Given the description of an element on the screen output the (x, y) to click on. 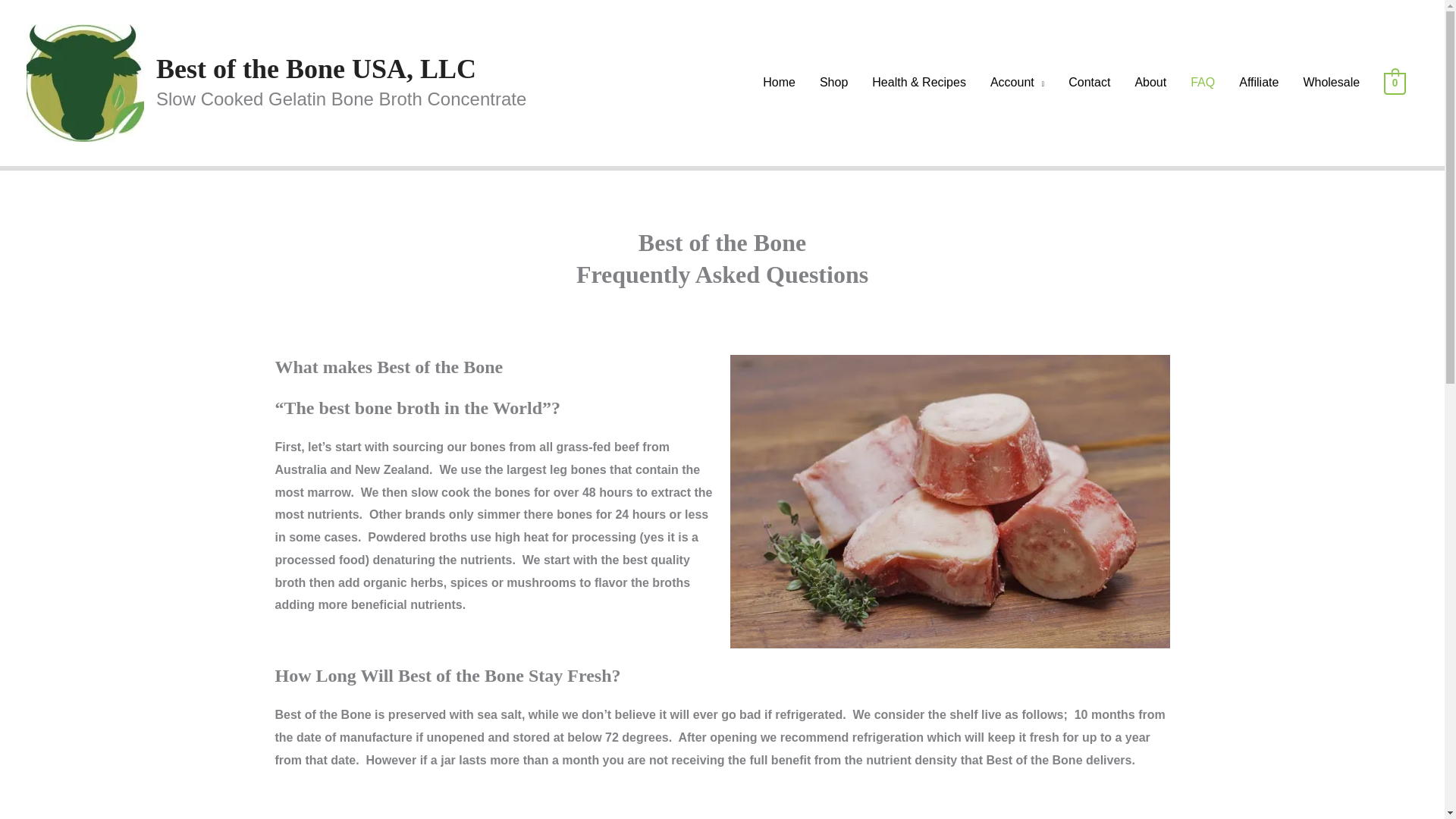
Shop (834, 82)
Wholesale (1330, 82)
Contact (1089, 82)
Home (779, 82)
Affiliate (1258, 82)
FAQ (1202, 82)
Best of the Bone USA, LLC (315, 69)
About (1149, 82)
